Given the description of an element on the screen output the (x, y) to click on. 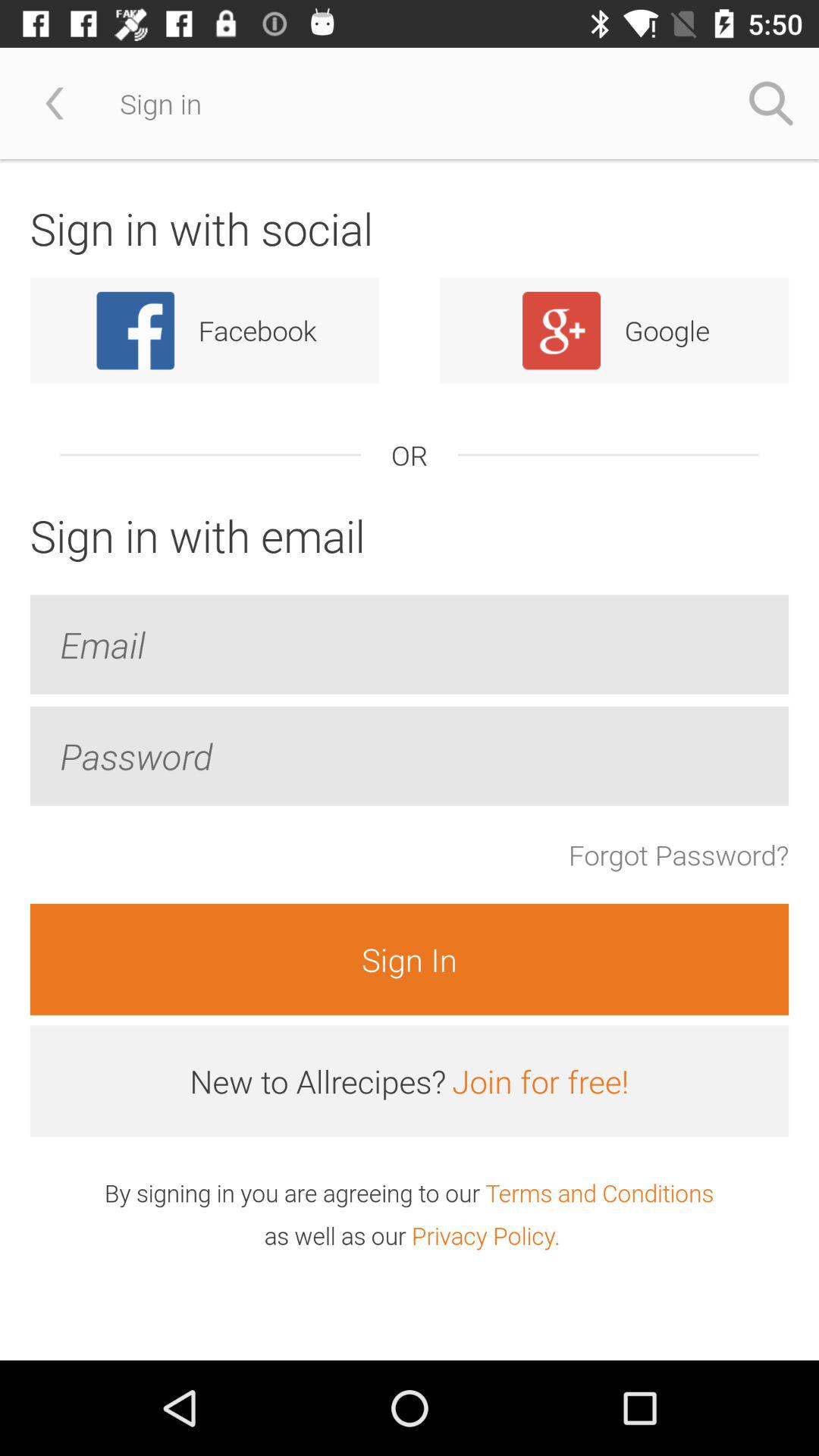
launch icon to the right of the as well as (485, 1235)
